Given the description of an element on the screen output the (x, y) to click on. 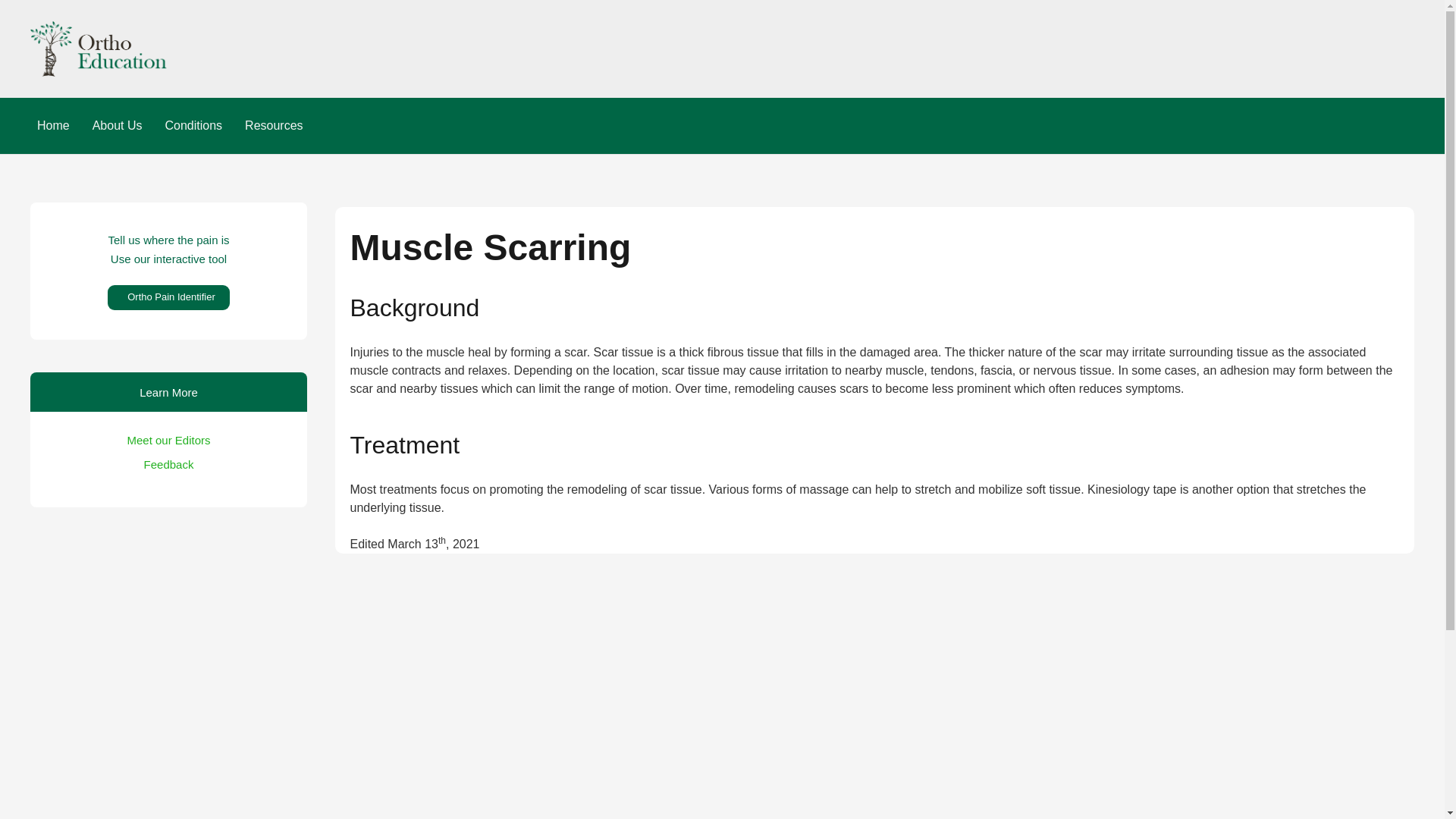
Conditions (192, 125)
Advertisement (168, 805)
Feedback (168, 463)
Resources (273, 125)
Home (53, 125)
Advertisement (169, 649)
About Us (117, 125)
Ortho Pain Identifier (168, 297)
Meet our Editors (167, 440)
